Given the description of an element on the screen output the (x, y) to click on. 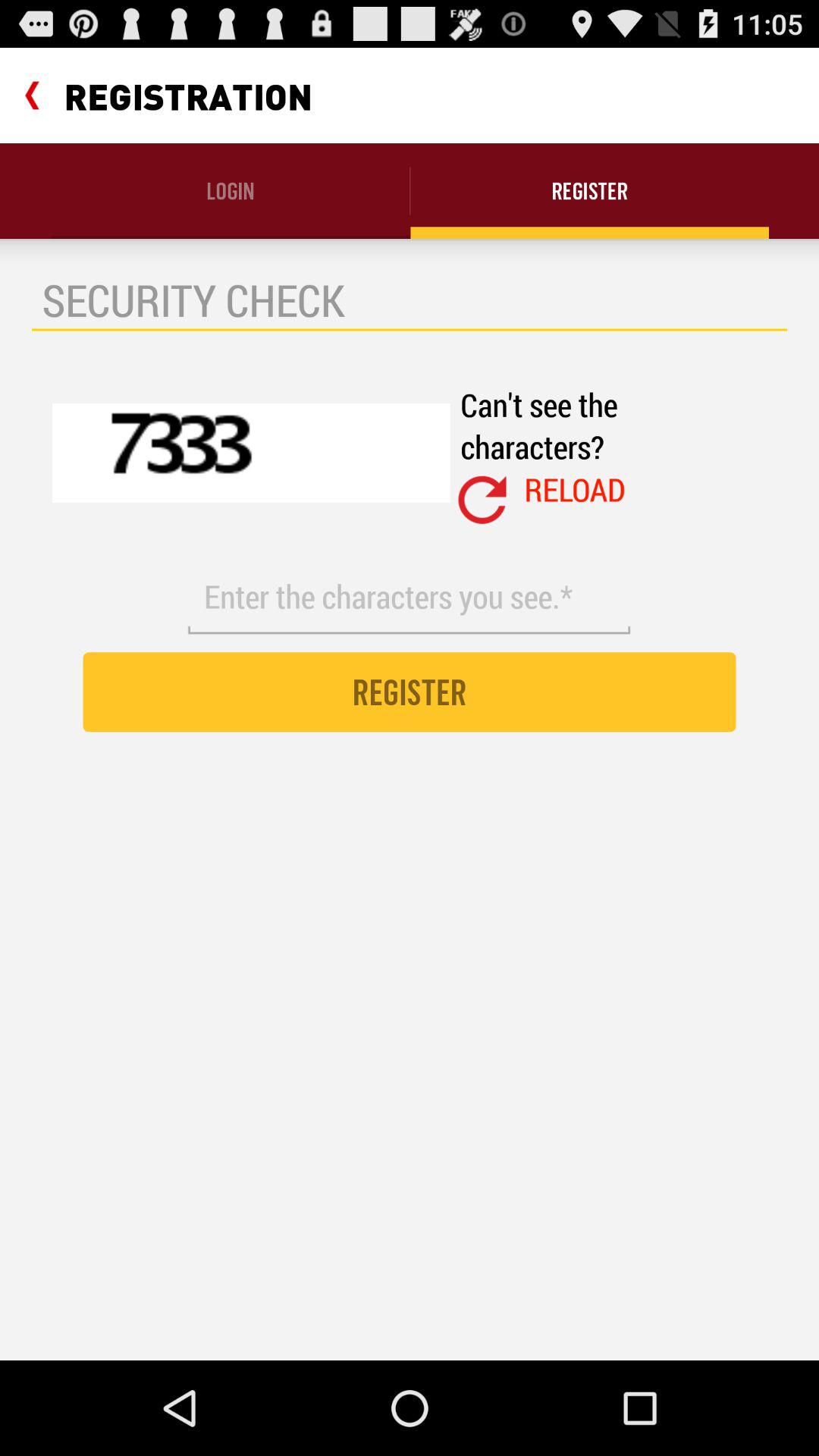
press item below the can t see icon (574, 489)
